Given the description of an element on the screen output the (x, y) to click on. 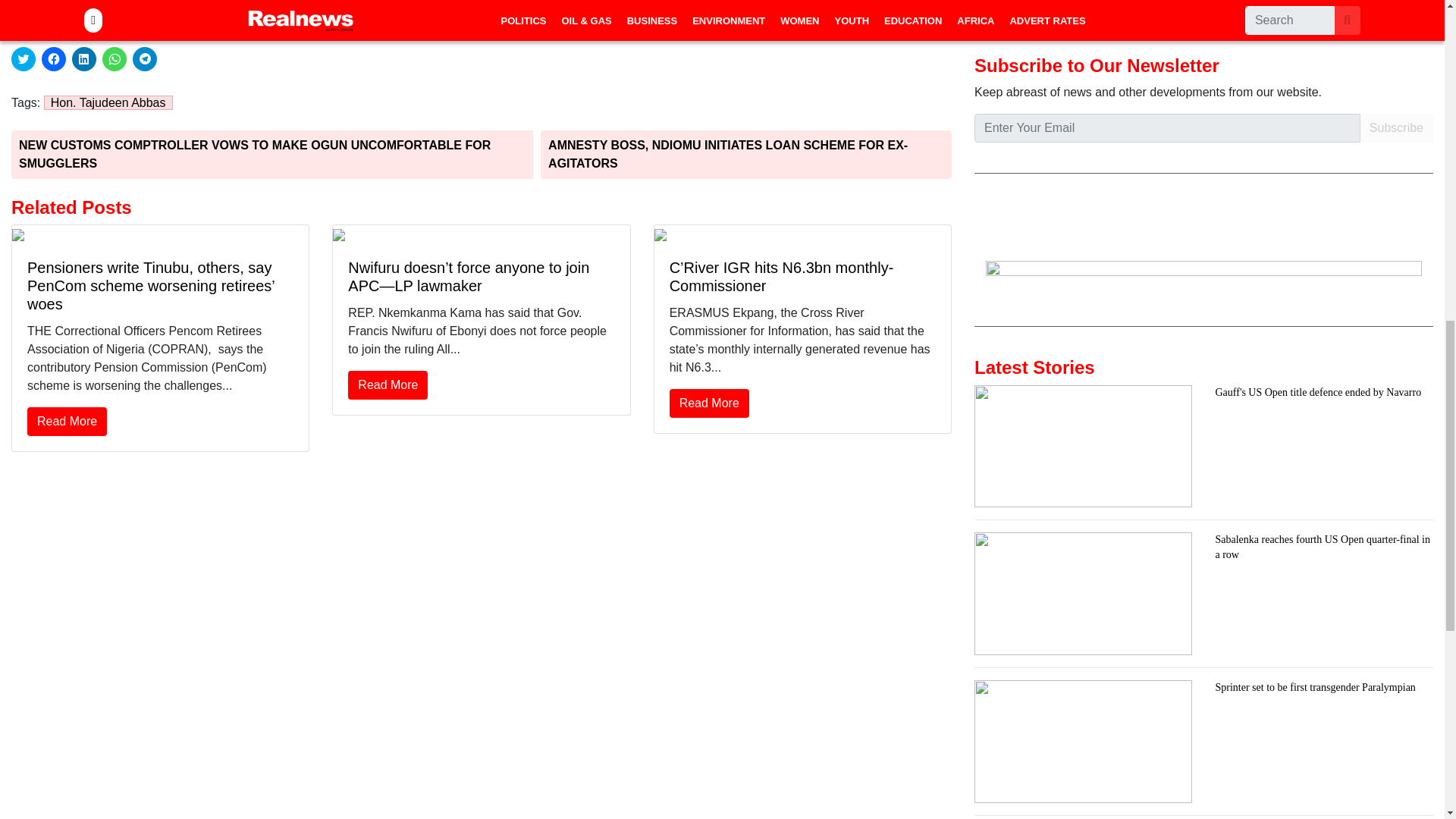
Click to share on Facebook (53, 58)
Read More (66, 421)
Click to share on WhatsApp (113, 58)
Click to share on Telegram (144, 58)
Click to share on LinkedIn (83, 58)
AMNESTY BOSS, NDIOMU INITIATES LOAN SCHEME FOR EX-AGITATORS  (745, 154)
Read More (387, 385)
Hon. Tajudeen Abbas (108, 102)
Click to share on Twitter (22, 58)
